Given the description of an element on the screen output the (x, y) to click on. 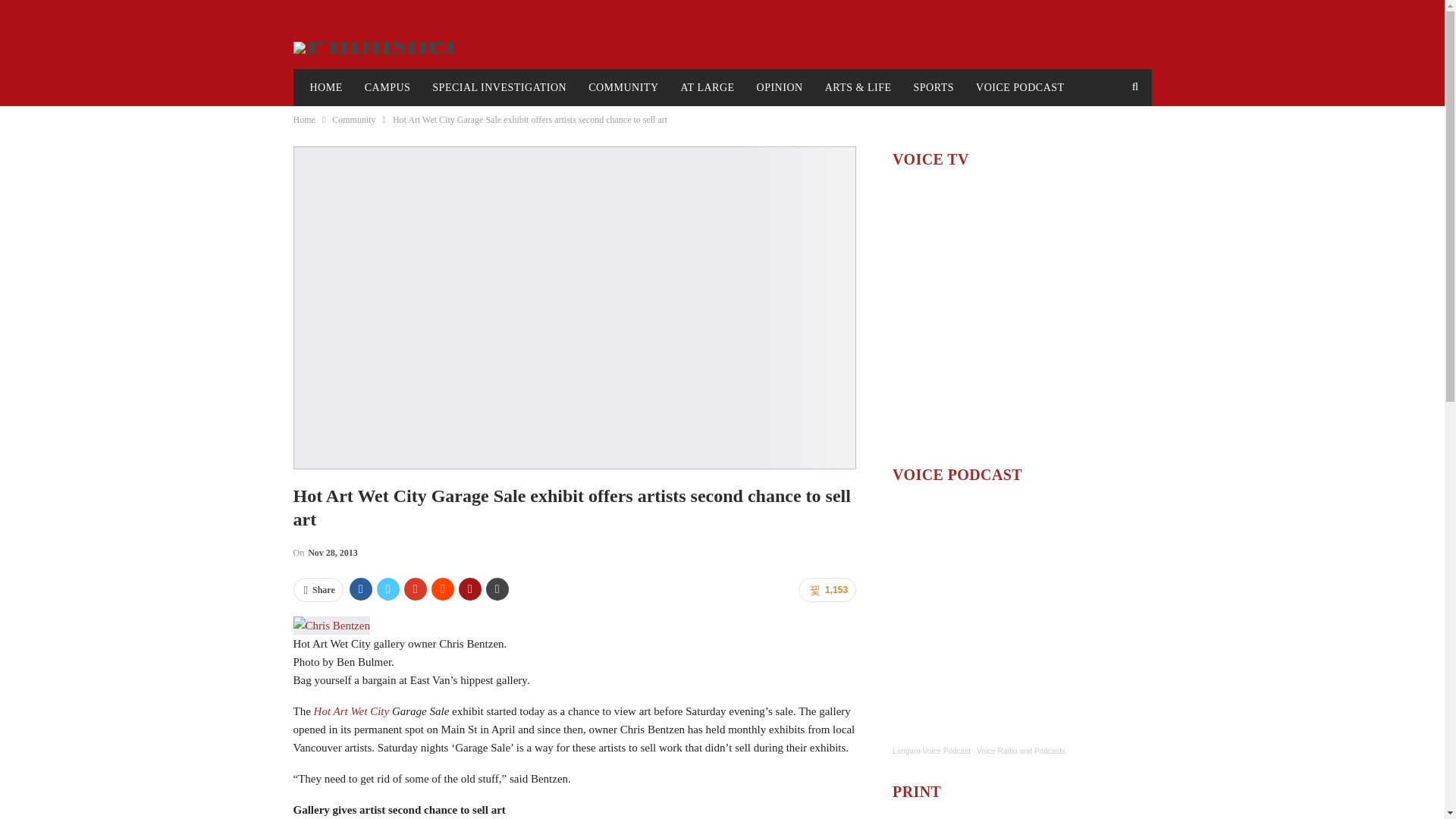
YouTube video player (1021, 315)
SPORTS (933, 87)
VOICE PODCAST (1020, 87)
Hot Art Wet City (352, 711)
Voice Radio and Podcasts (1020, 750)
Community (353, 119)
HOME (324, 87)
SPECIAL INVESTIGATION (499, 87)
Home (303, 119)
Langara Voice Podcast (931, 750)
